Given the description of an element on the screen output the (x, y) to click on. 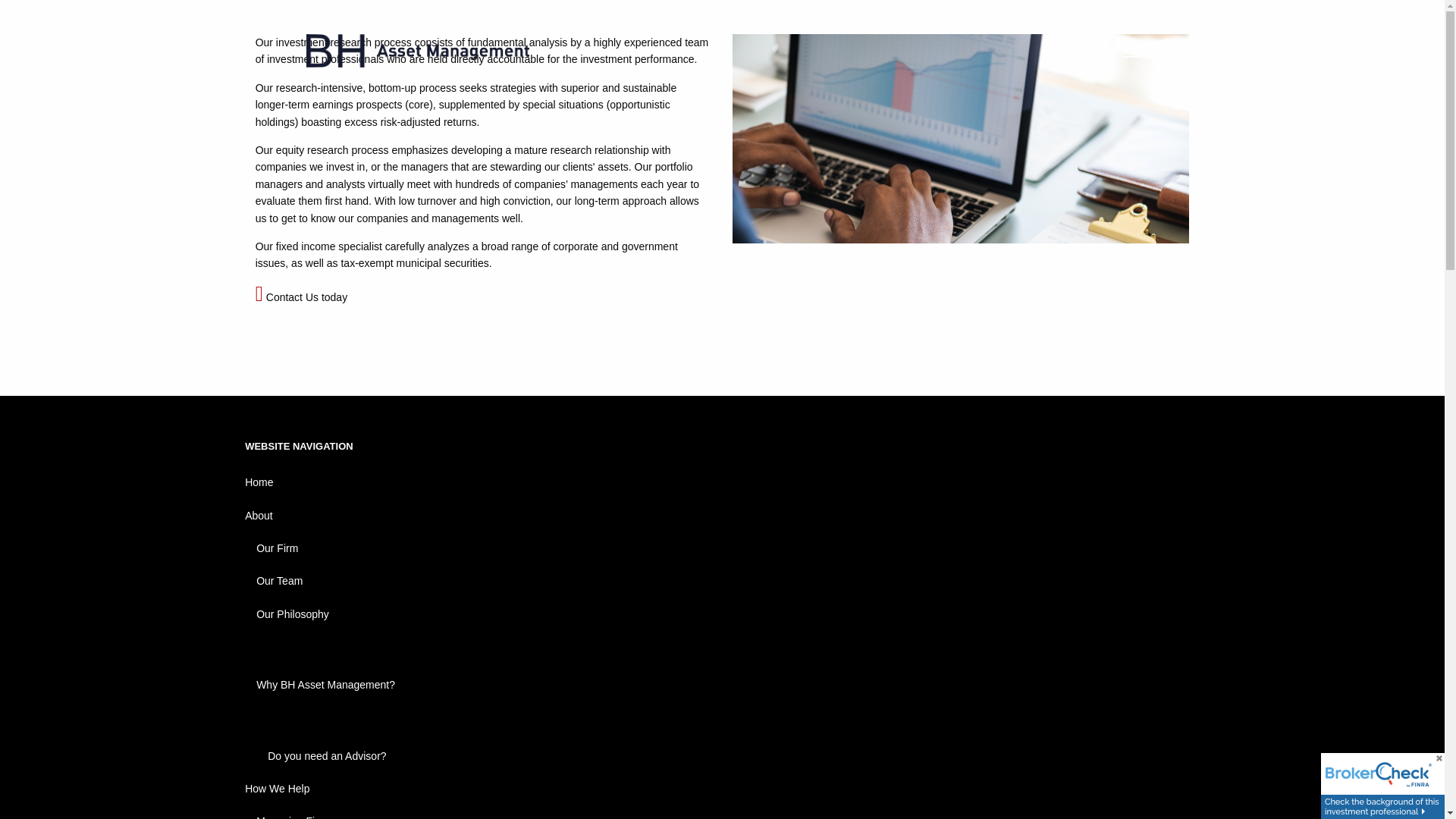
Our Philosophy (727, 613)
Our Firm (727, 548)
Home (721, 482)
Our Team (727, 581)
About (721, 514)
Why BH Asset Management? (354, 685)
Do you need an Advisor? (365, 755)
